Given the description of an element on the screen output the (x, y) to click on. 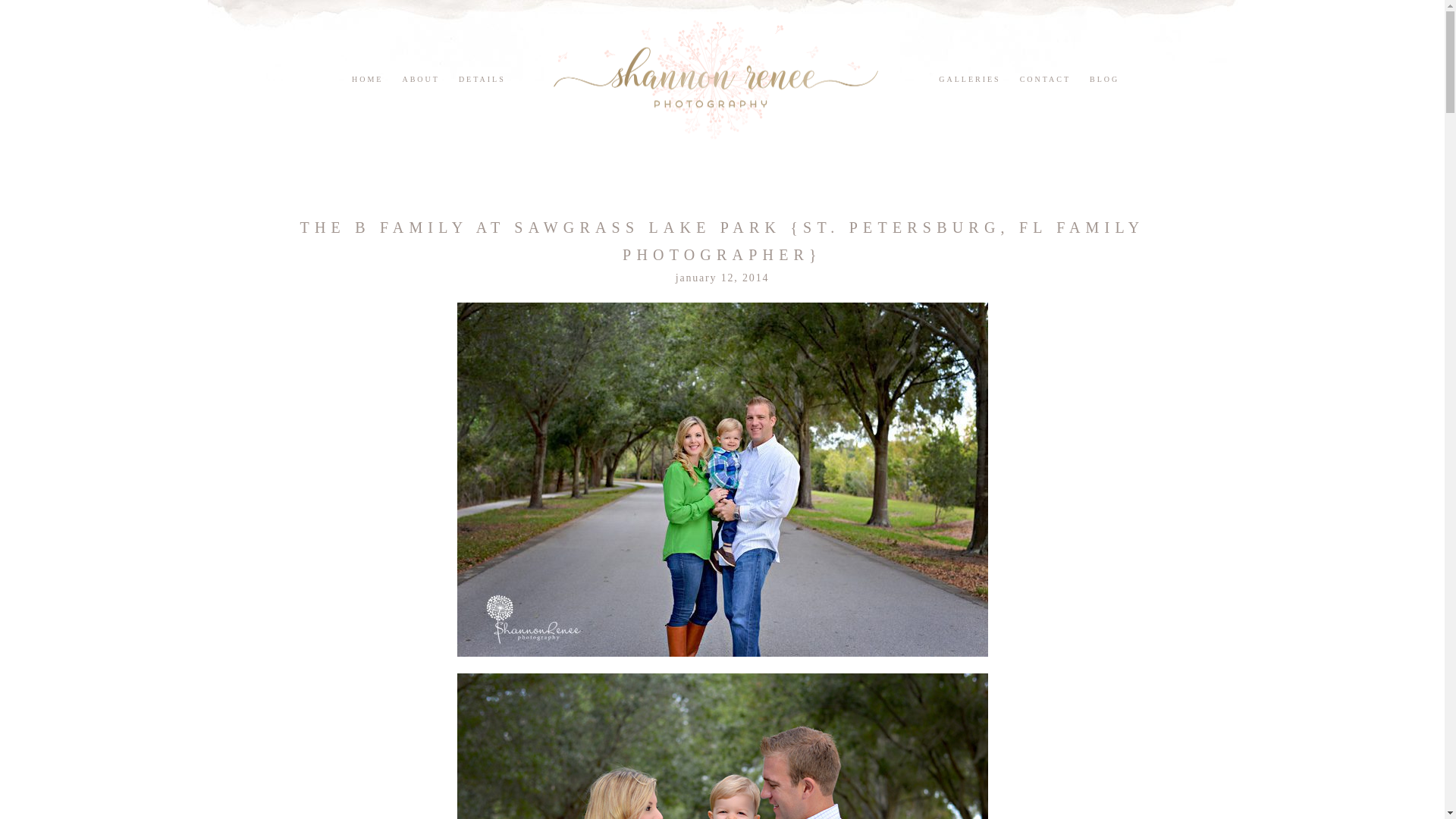
st petersburg fl photographer 2 (722, 746)
BLOG (1104, 79)
HOME (367, 79)
CONTACT (1045, 79)
ABOUT (420, 79)
